Given the description of an element on the screen output the (x, y) to click on. 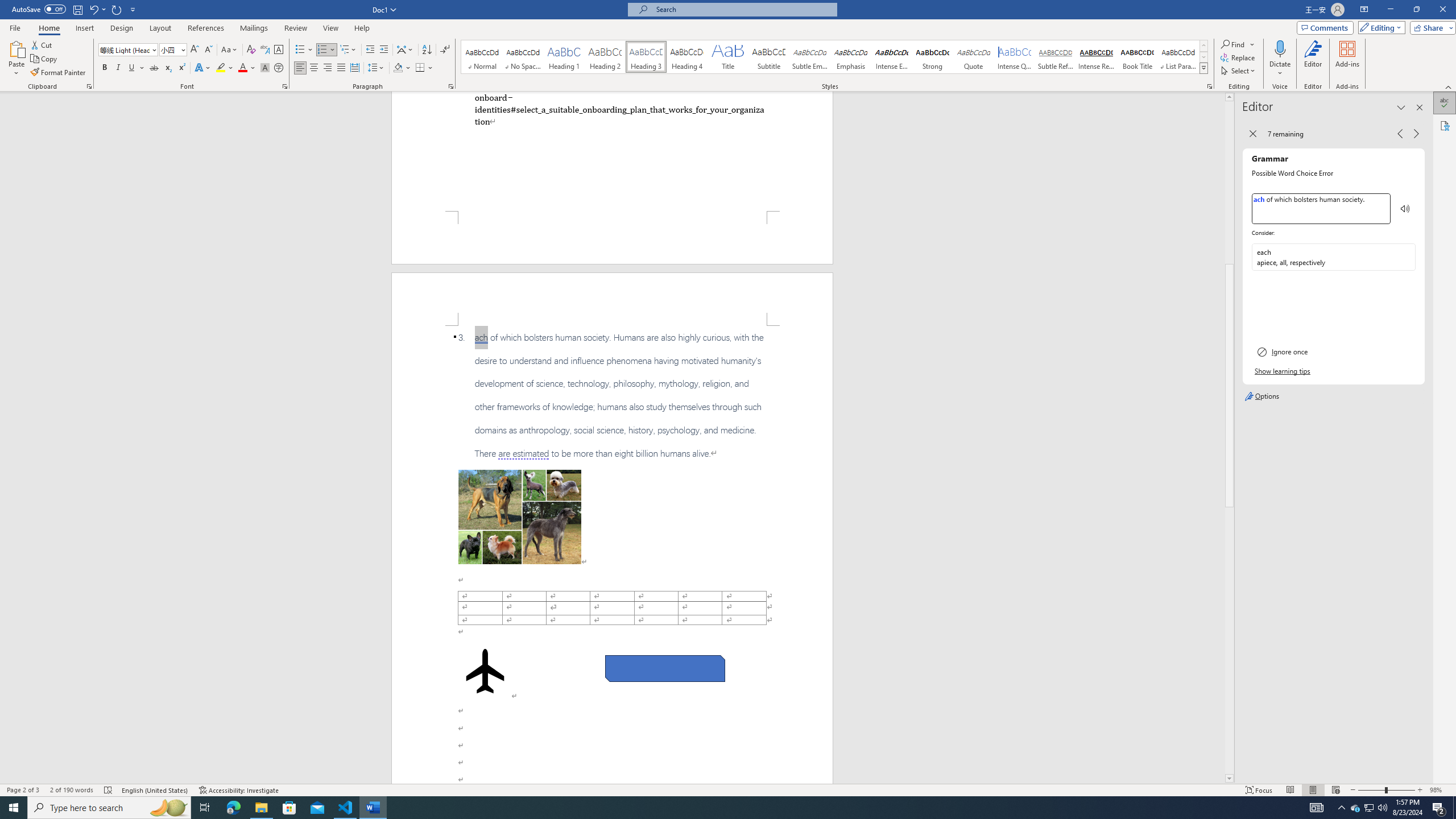
Undo Apply Quick Style (92, 9)
Row Down (1203, 56)
Office Clipboard... (88, 85)
References (205, 28)
Quick Access Toolbar (74, 9)
Phonetic Guide... (264, 49)
Superscript (180, 67)
each (1324, 257)
Cut (42, 44)
Row up (1203, 45)
